Given the description of an element on the screen output the (x, y) to click on. 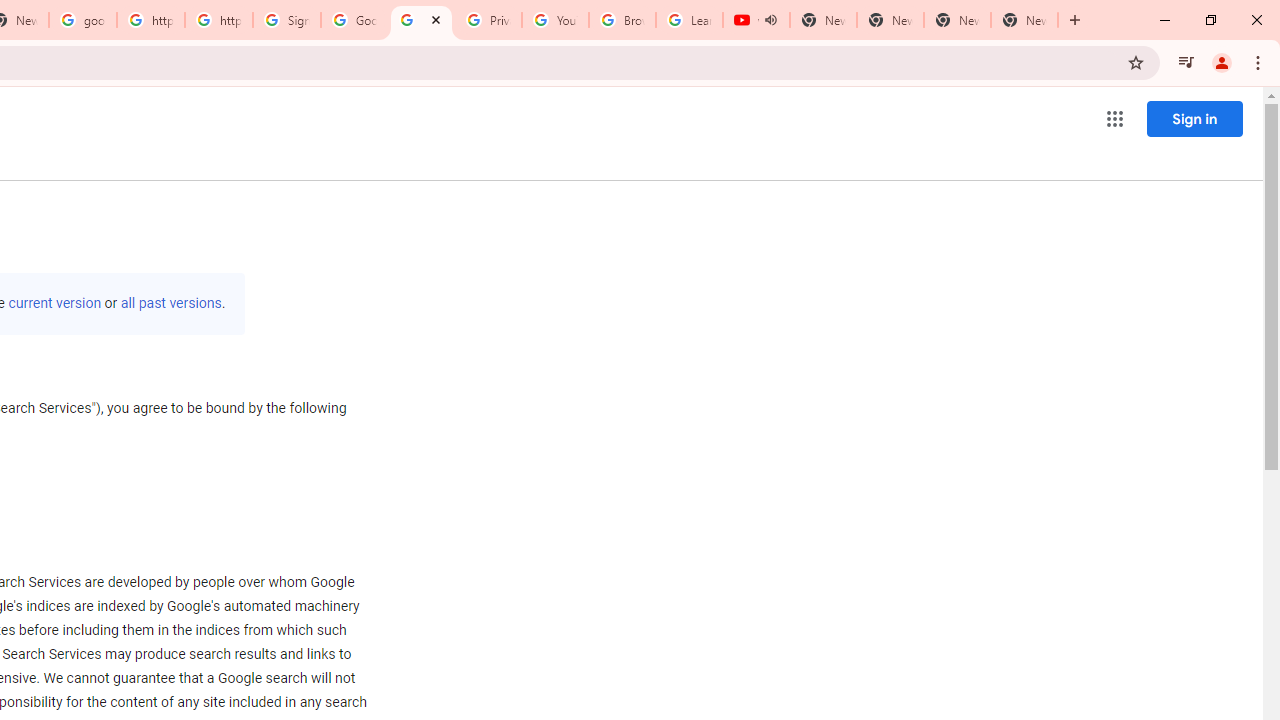
https://scholar.google.com/ (150, 20)
Mute tab (770, 20)
YouTube (555, 20)
Browse Chrome as a guest - Computer - Google Chrome Help (622, 20)
Control your music, videos, and more (1185, 62)
Sign in - Google Accounts (287, 20)
all past versions (170, 303)
Google apps (1114, 118)
